Given the description of an element on the screen output the (x, y) to click on. 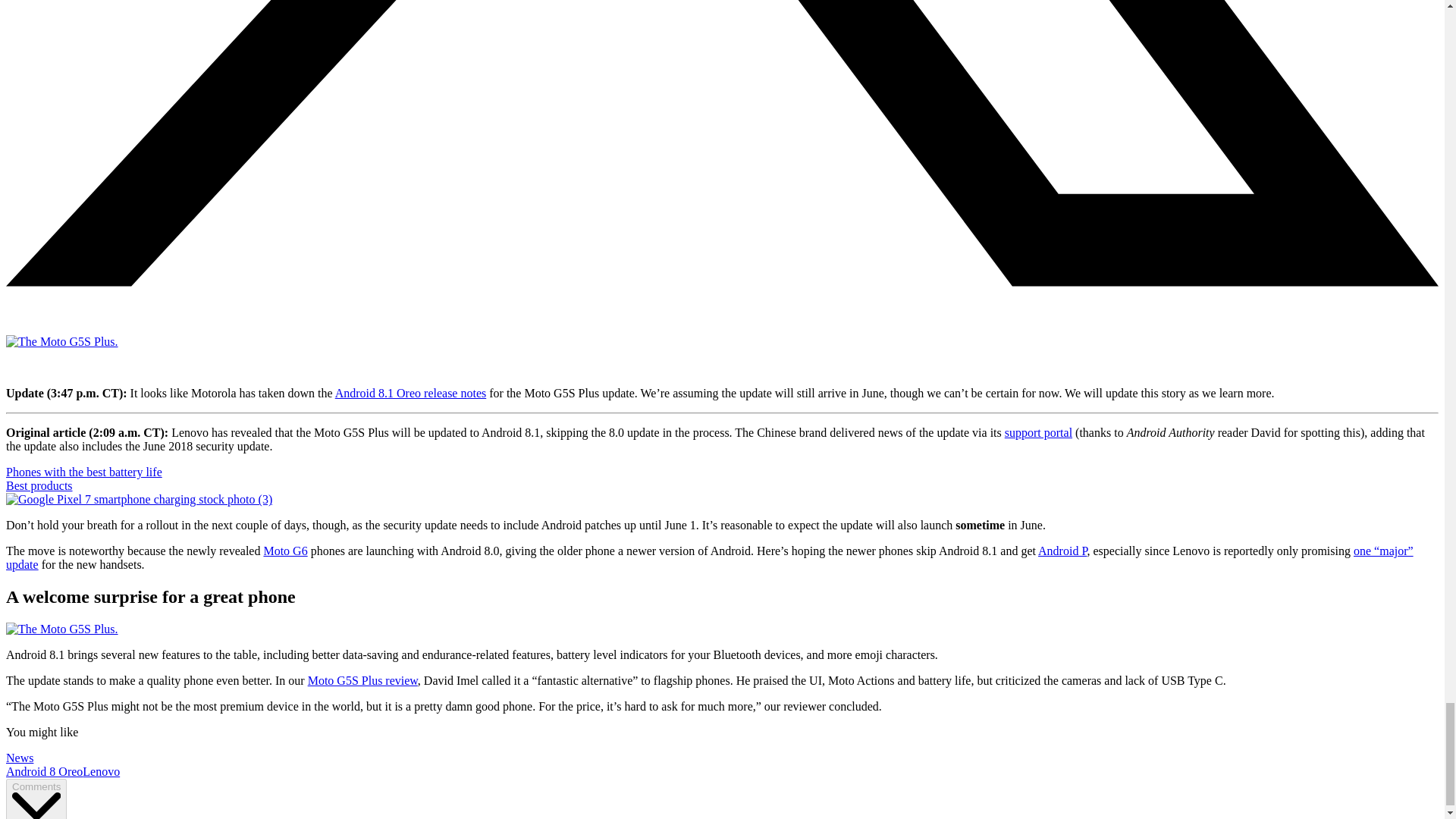
support portal (1037, 431)
Android 8.1 Oreo release notes (410, 392)
Lenovo (100, 771)
Moto G5S Plus review (362, 680)
Moto G6 (285, 550)
Android P (1062, 550)
News (19, 757)
Android 8 Oreo (43, 771)
